Given the description of an element on the screen output the (x, y) to click on. 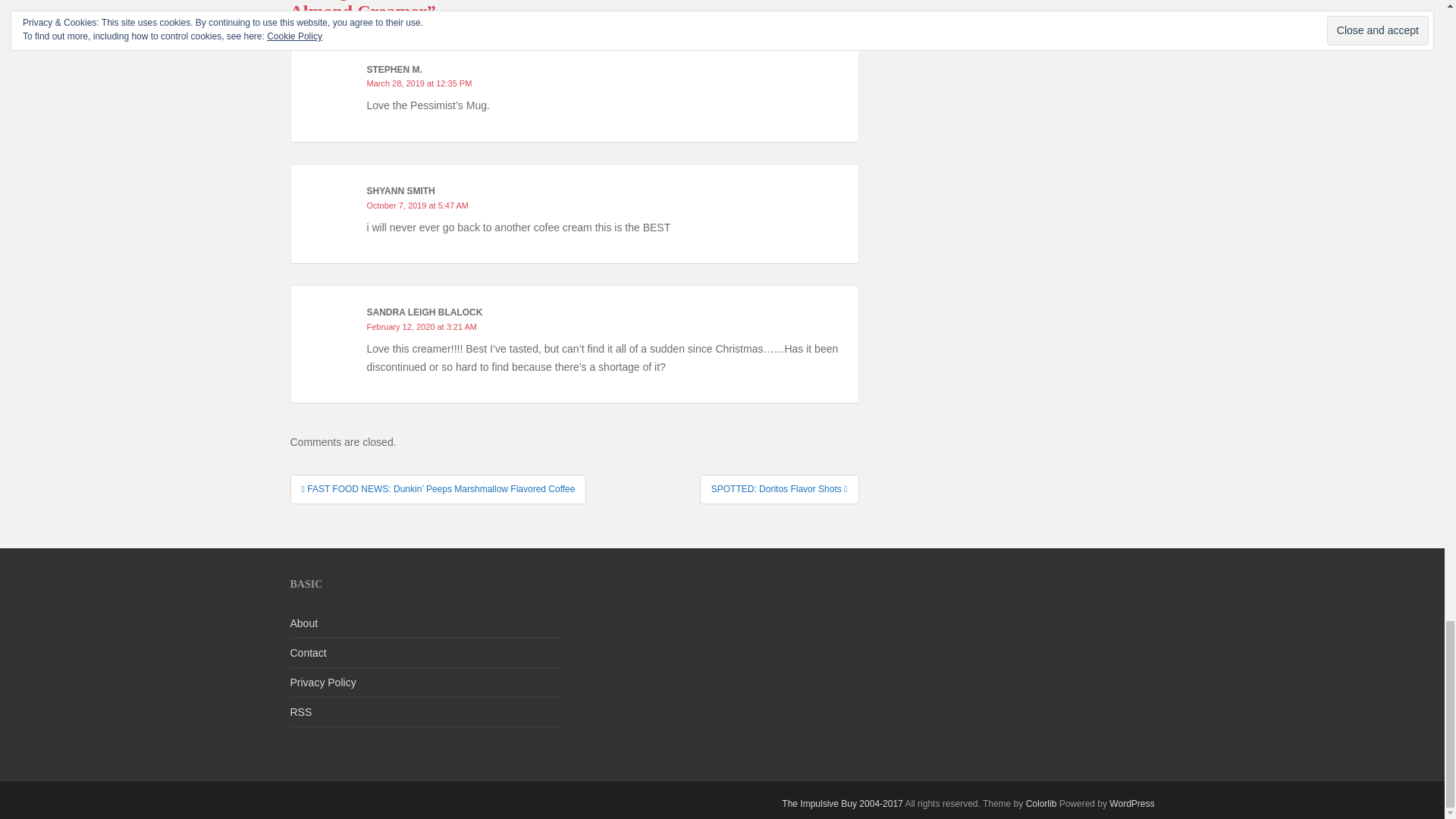
SPOTTED: Doritos Flavor Shots (779, 489)
February 12, 2020 at 3:21 AM (421, 326)
October 7, 2019 at 5:47 AM (417, 204)
March 28, 2019 at 12:35 PM (418, 82)
